Given the description of an element on the screen output the (x, y) to click on. 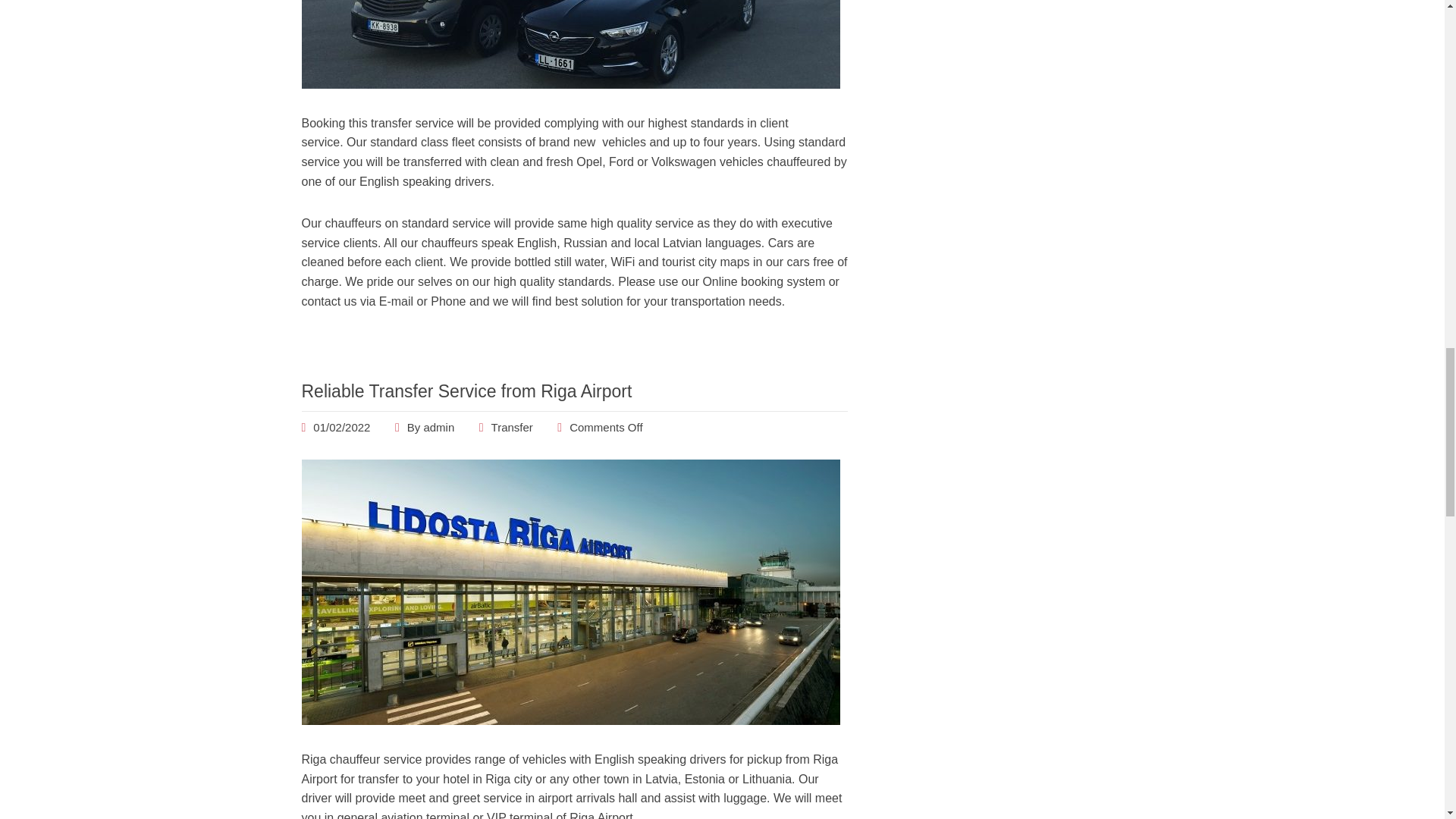
Reliable Transfer Service from Riga Airport (466, 391)
Posts by admin (438, 427)
Reliable Transfer Service from Riga Airport (570, 720)
Reliable Transfer Service from Riga Airport (341, 427)
